Given the description of an element on the screen output the (x, y) to click on. 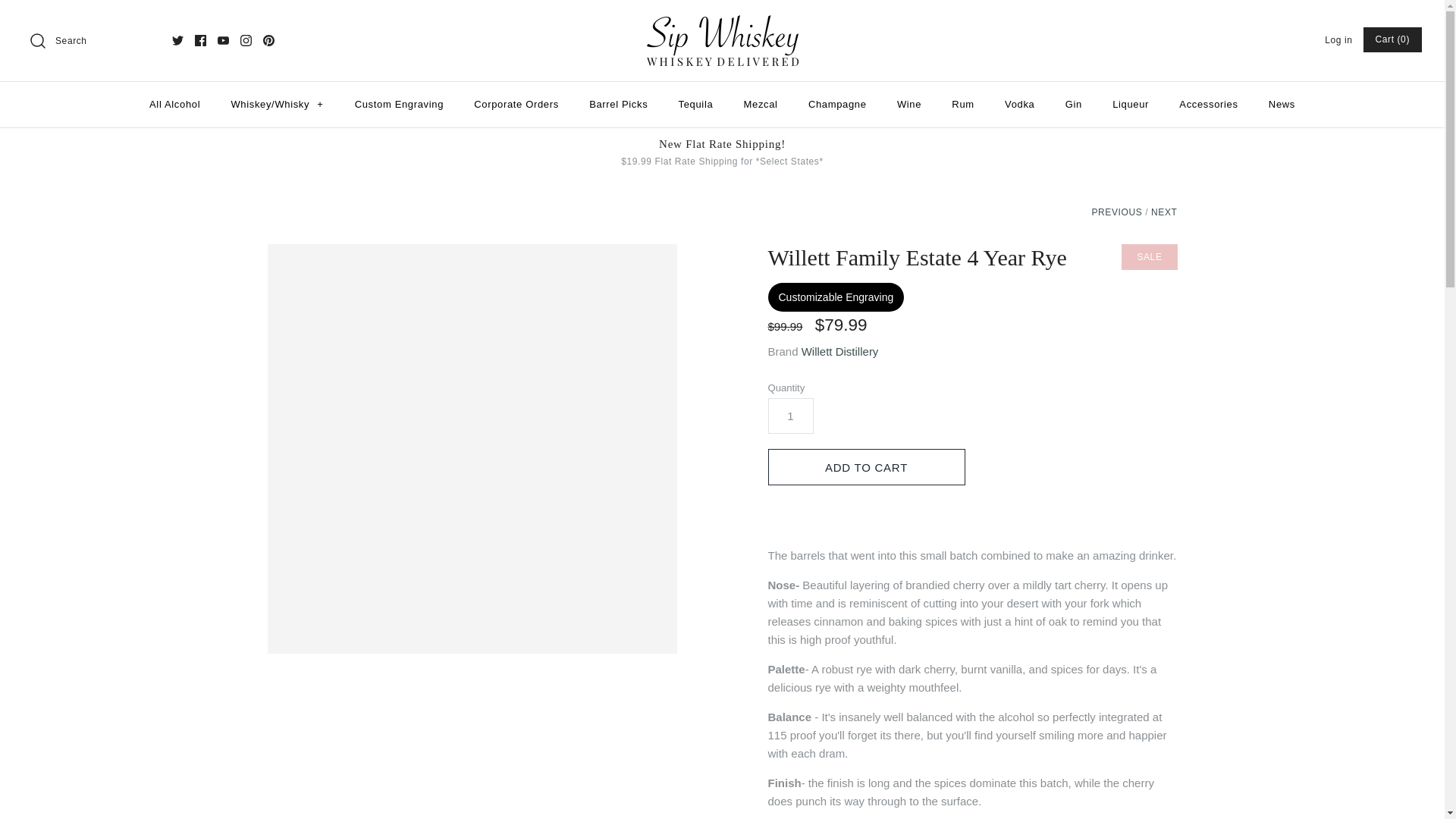
Mezcal (761, 104)
Log in (1338, 40)
Vodka (1019, 104)
Barrel Picks (618, 104)
Rum (962, 104)
Champagne (837, 104)
Sip Whiskey (721, 23)
Instagram (245, 40)
Instagram (245, 40)
Corporate Orders (516, 104)
Facebook (200, 40)
Facebook (200, 40)
Twitter (177, 40)
Facebook (200, 40)
All Alcohol (174, 104)
